Given the description of an element on the screen output the (x, y) to click on. 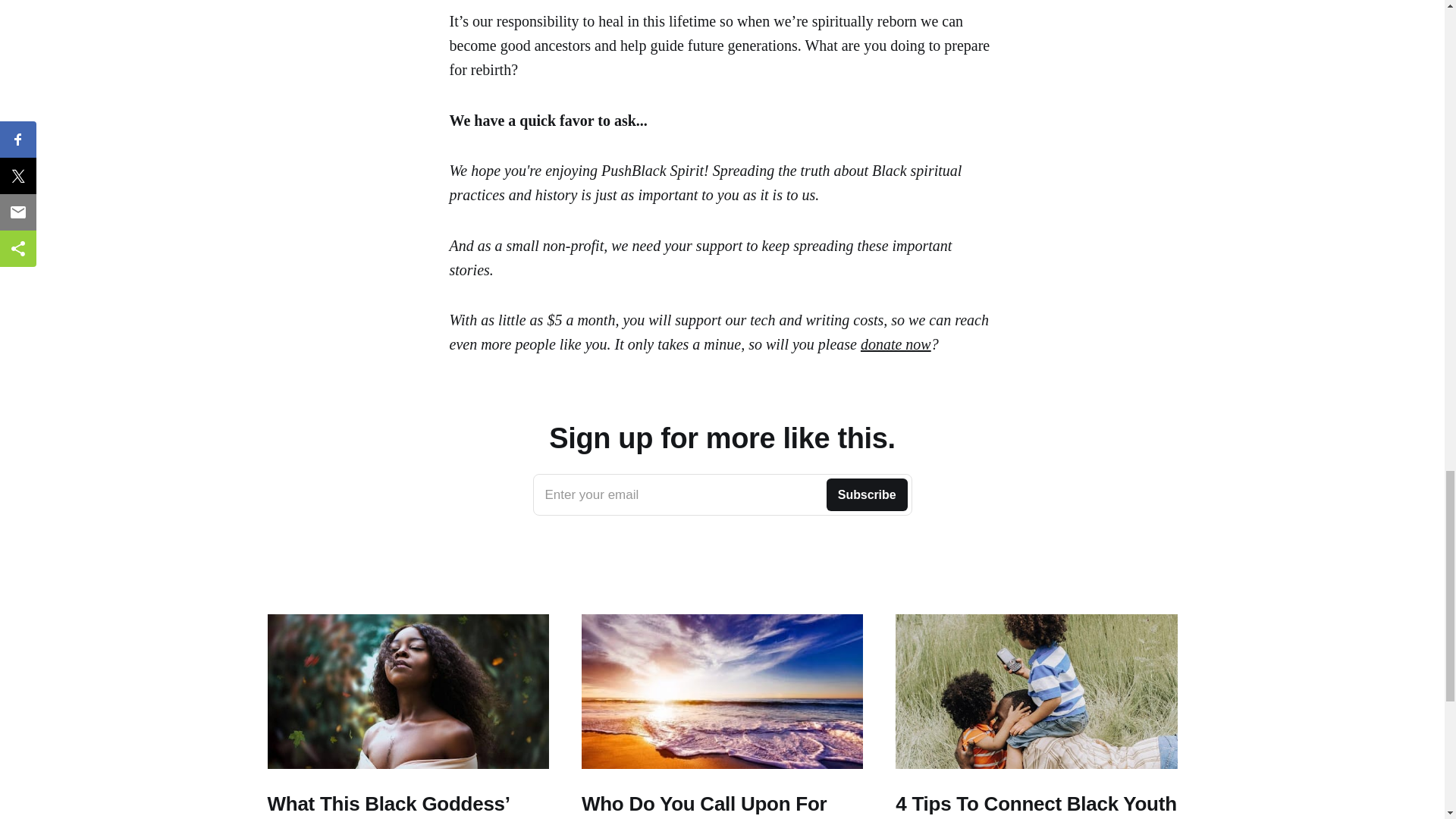
donate now (895, 343)
